Given the description of an element on the screen output the (x, y) to click on. 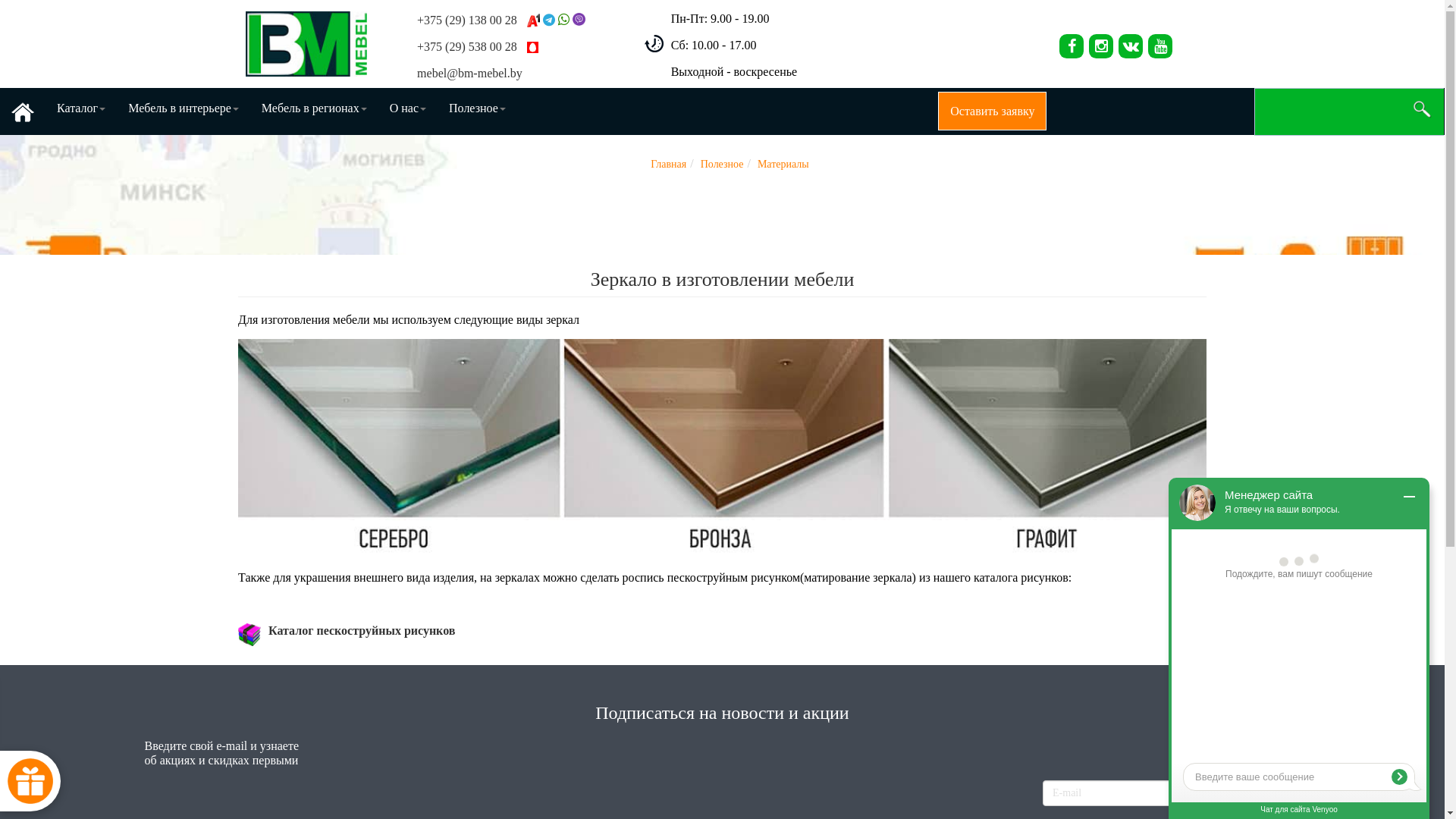
Bmmebelby Element type: hover (1130, 46)
Bmmebel.by Element type: hover (1100, 46)
@bmmebel By Element type: hover (547, 19)
viber Element type: hover (578, 19)
Home Element type: hover (22, 110)
+375 (29) 538 00 28 Element type: text (478, 46)
Bmmebel.by Element type: hover (1071, 46)
UCfcHjSkSGGlE0Ylg6AVDfpg Element type: hover (1160, 46)
375291380028 Element type: hover (563, 19)
+375 (29) 138 00 28 Element type: text (478, 20)
mebel@bm-mebel.by Element type: text (469, 72)
